Given the description of an element on the screen output the (x, y) to click on. 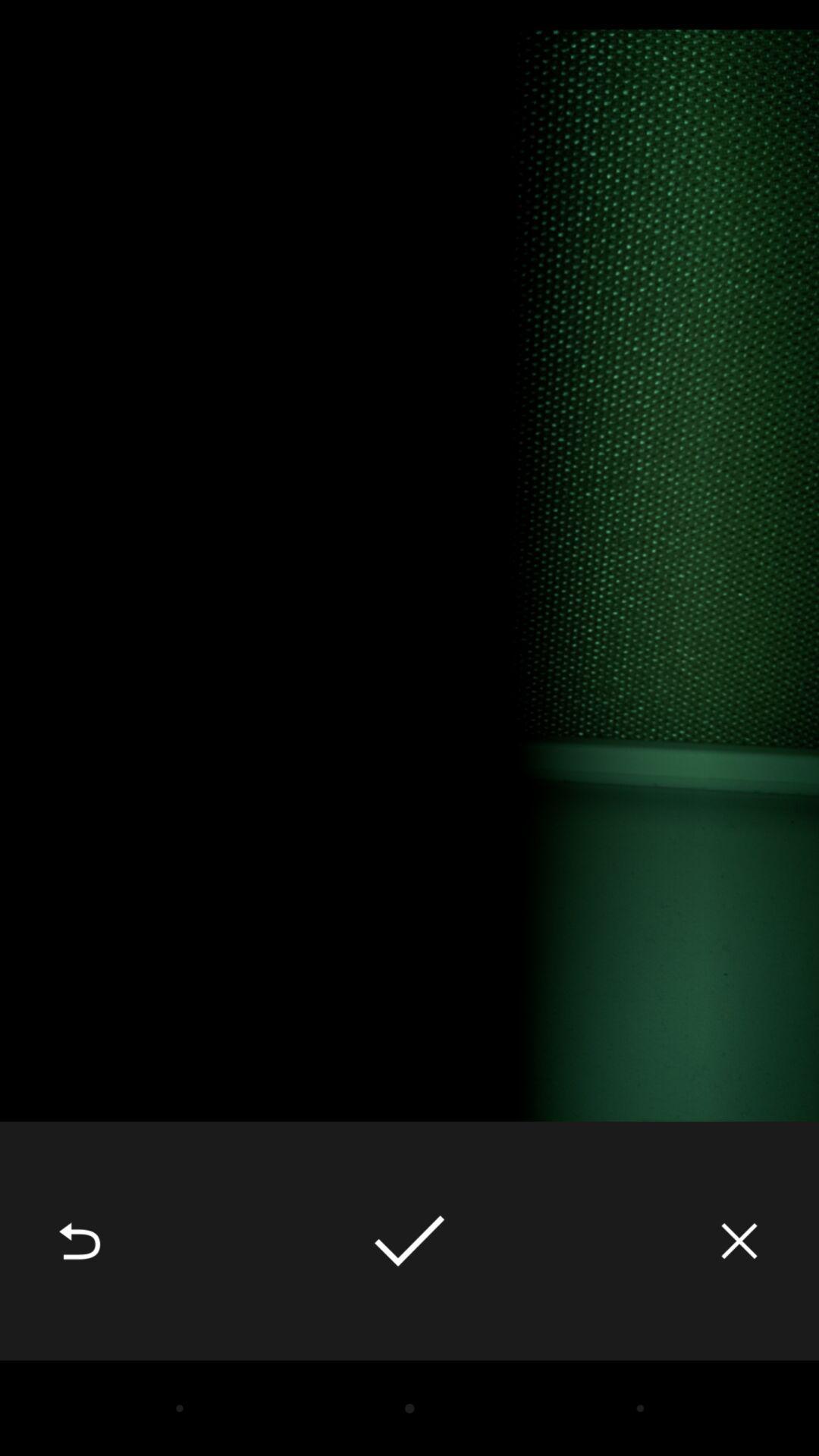
turn on item at the bottom left corner (79, 1240)
